Given the description of an element on the screen output the (x, y) to click on. 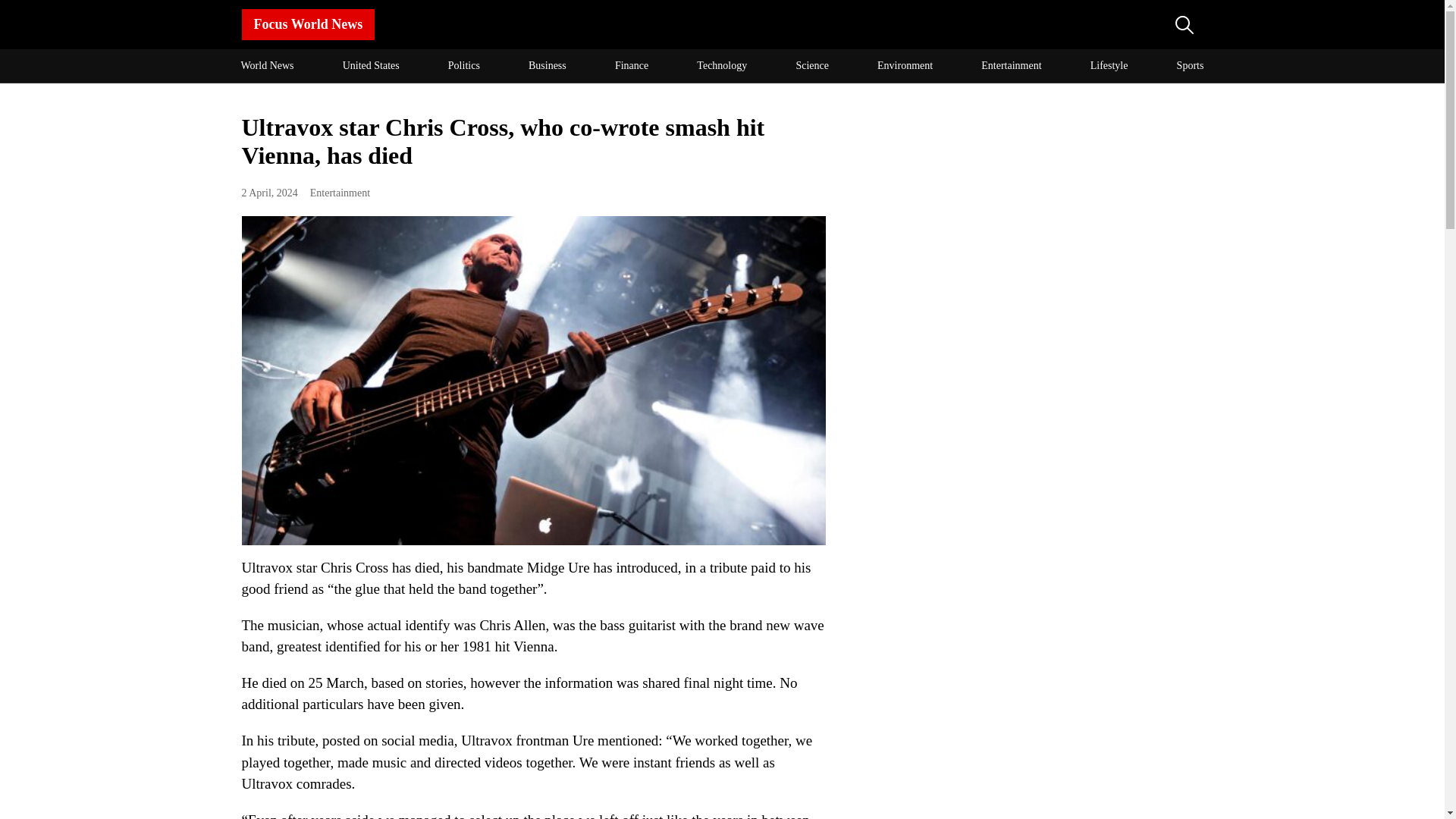
Sports (1190, 65)
Politics (464, 65)
Finance (631, 65)
United States (370, 65)
Science (812, 65)
Entertainment (1010, 65)
Technology (721, 65)
Focus World News (475, 24)
Business (547, 65)
World News (266, 65)
Environment (904, 65)
Lifestyle (1109, 65)
Entertainment (339, 192)
